Given the description of an element on the screen output the (x, y) to click on. 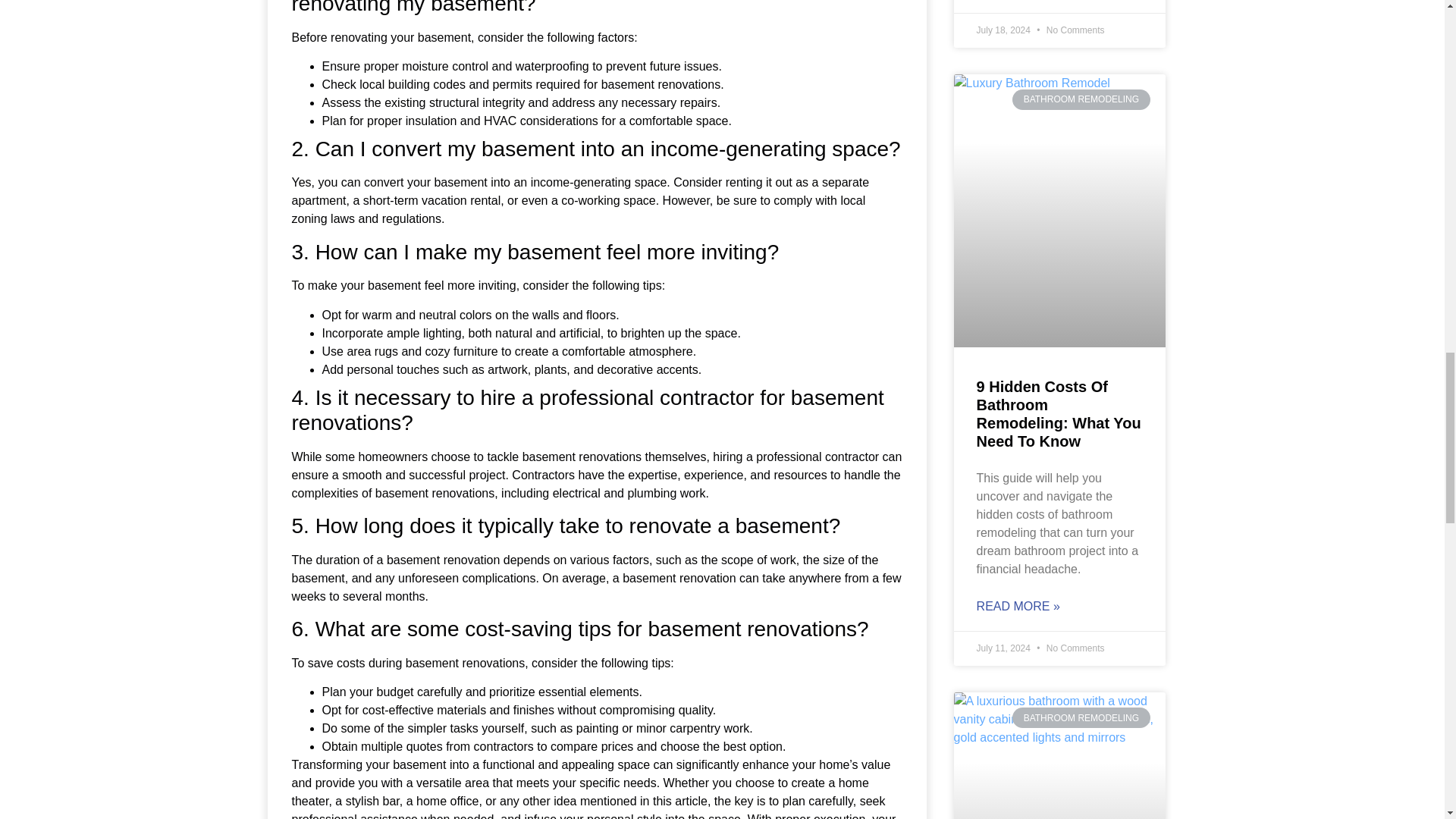
Luxury Bathroom Remodel (1059, 140)
